Given the description of an element on the screen output the (x, y) to click on. 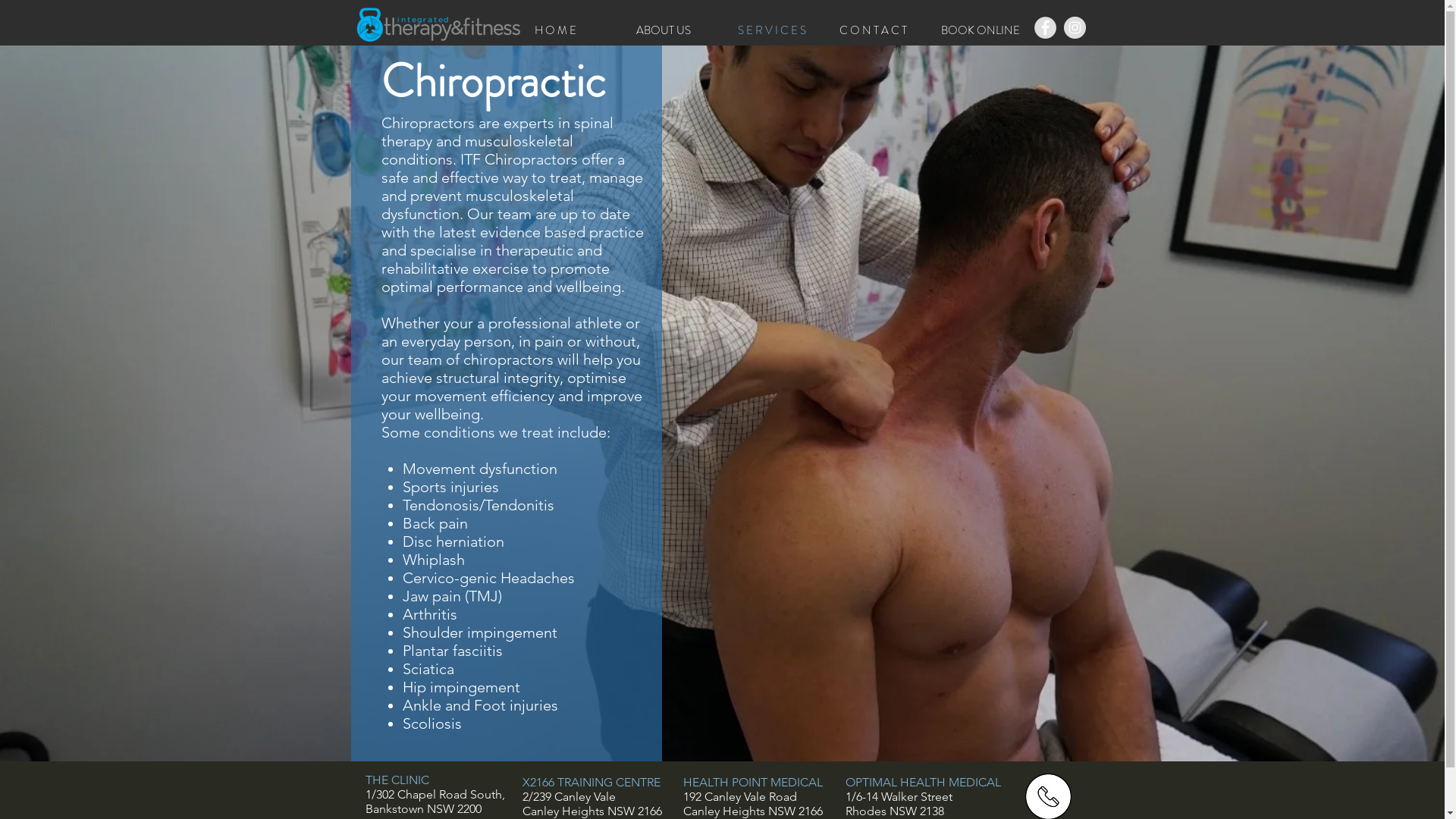
BOOK ONLINE Element type: text (980, 30)
S E R V I C E S Element type: text (777, 30)
C O N T A C T Element type: text (878, 30)
ABOUT US Element type: text (675, 30)
H O M E Element type: text (573, 30)
